Given the description of an element on the screen output the (x, y) to click on. 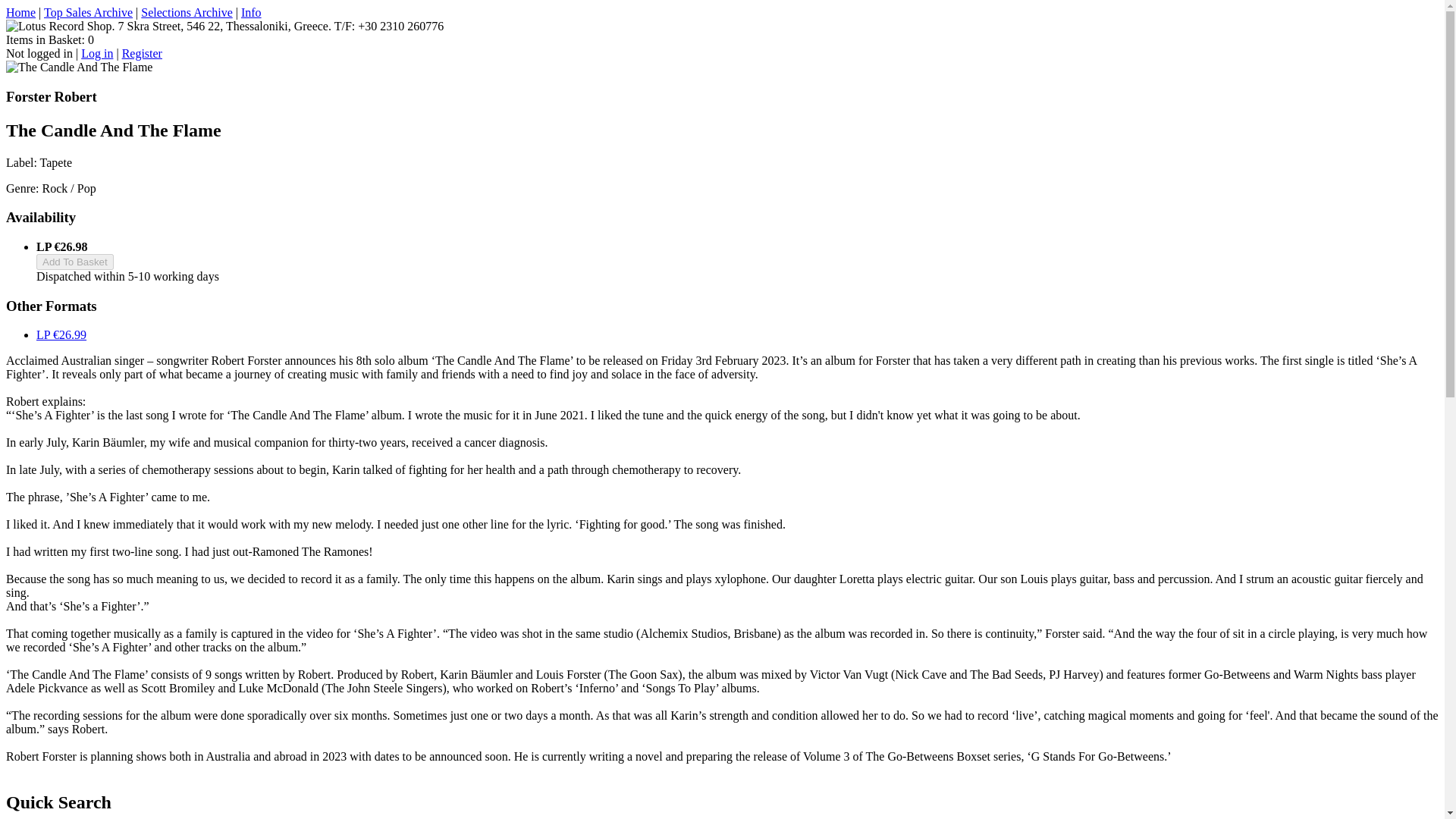
Info (251, 11)
Top Sales Archive (87, 11)
Home (19, 11)
Add To Basket (74, 261)
Selections Archive (186, 11)
Log in (97, 52)
Register (141, 52)
Add To Basket (74, 261)
